Given the description of an element on the screen output the (x, y) to click on. 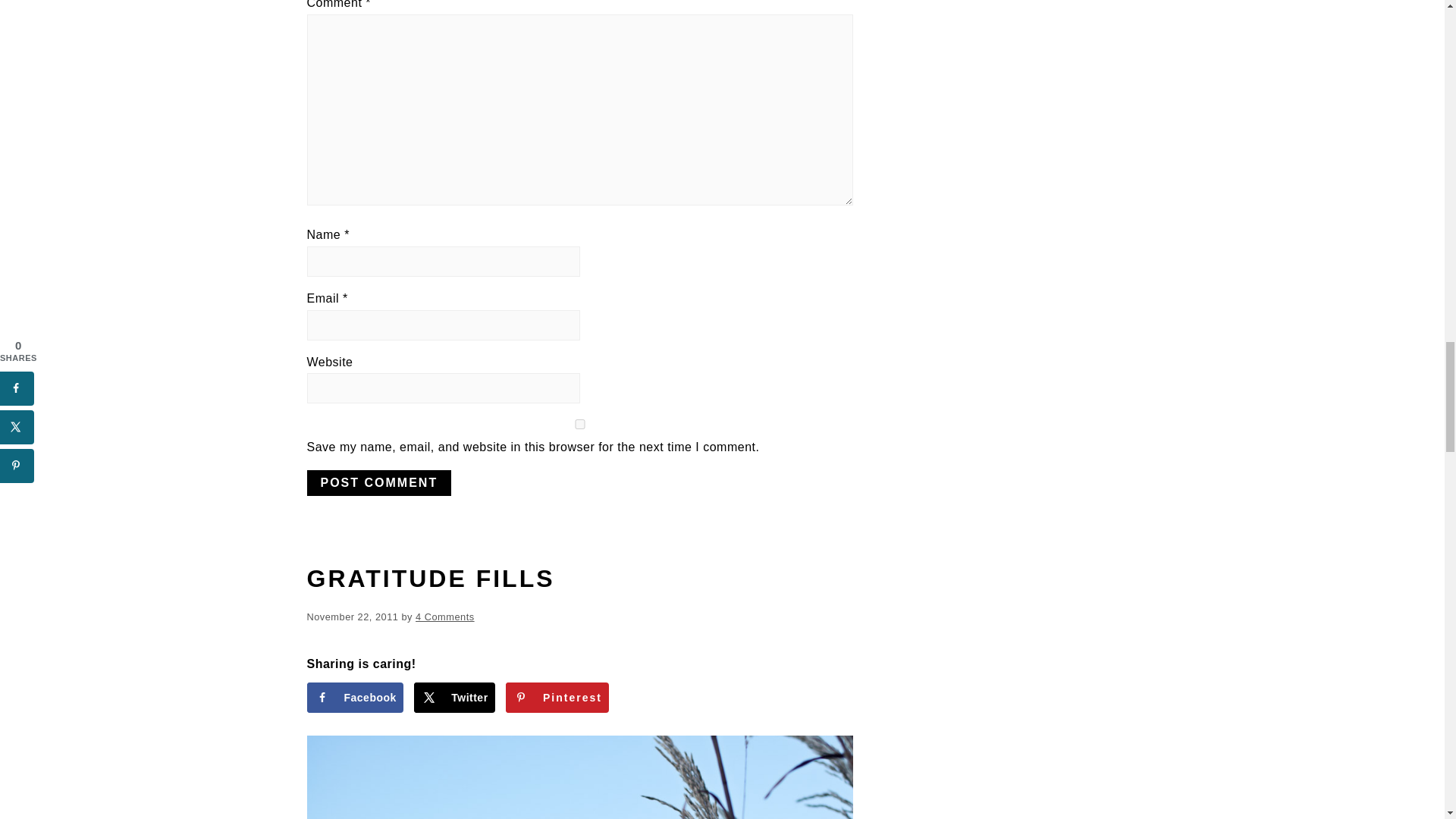
BarbJones-258-Edit (578, 777)
yes (578, 424)
Pinterest (556, 697)
Facebook (354, 697)
Twitter (454, 697)
Post Comment (378, 483)
Share on Facebook (354, 697)
Share on X (454, 697)
Save to Pinterest (556, 697)
Post Comment (378, 483)
4 Comments (444, 616)
